Given the description of an element on the screen output the (x, y) to click on. 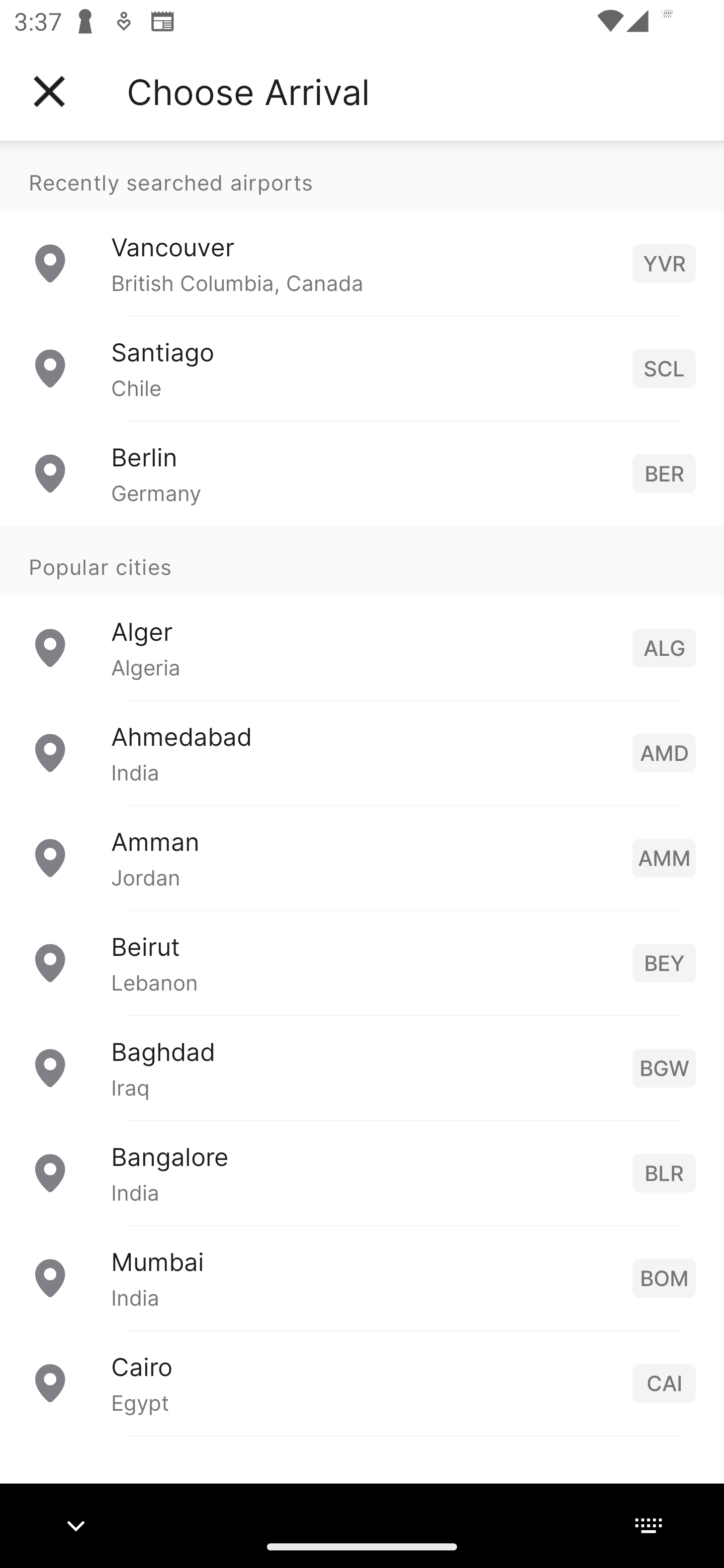
Choose Arrival (247, 91)
Recently searched airports (362, 176)
Santiago Chile SCL (362, 367)
Berlin Germany BER (362, 472)
Popular cities Alger Algeria ALG (362, 612)
Popular cities (362, 560)
Ahmedabad India AMD (362, 751)
Amman Jordan AMM (362, 856)
Beirut Lebanon BEY (362, 961)
Baghdad Iraq BGW (362, 1066)
Bangalore India BLR (362, 1171)
Mumbai India BOM (362, 1276)
Cairo Egypt CAI (362, 1381)
